Given the description of an element on the screen output the (x, y) to click on. 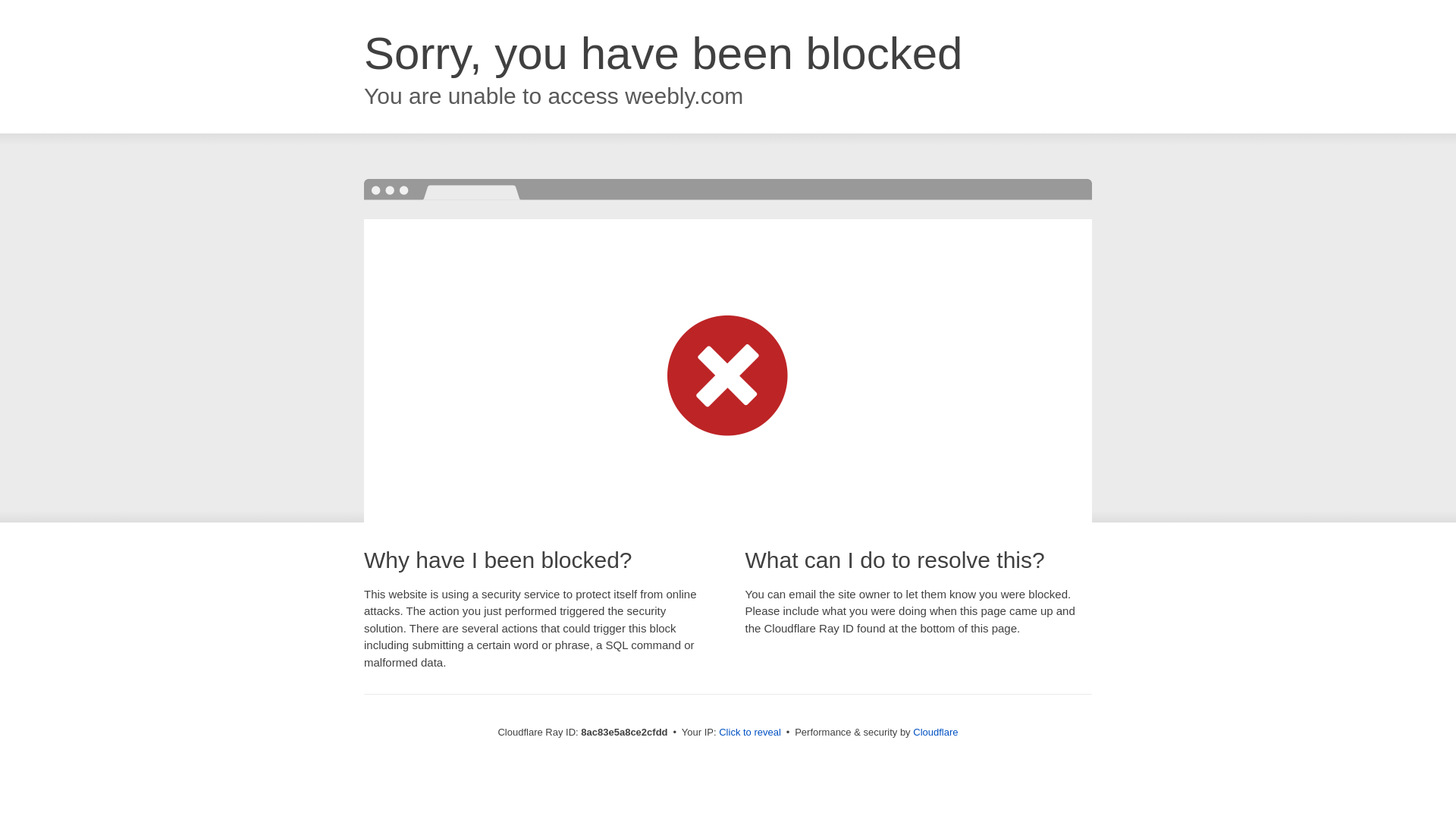
Cloudflare (935, 731)
Click to reveal (749, 732)
